Given the description of an element on the screen output the (x, y) to click on. 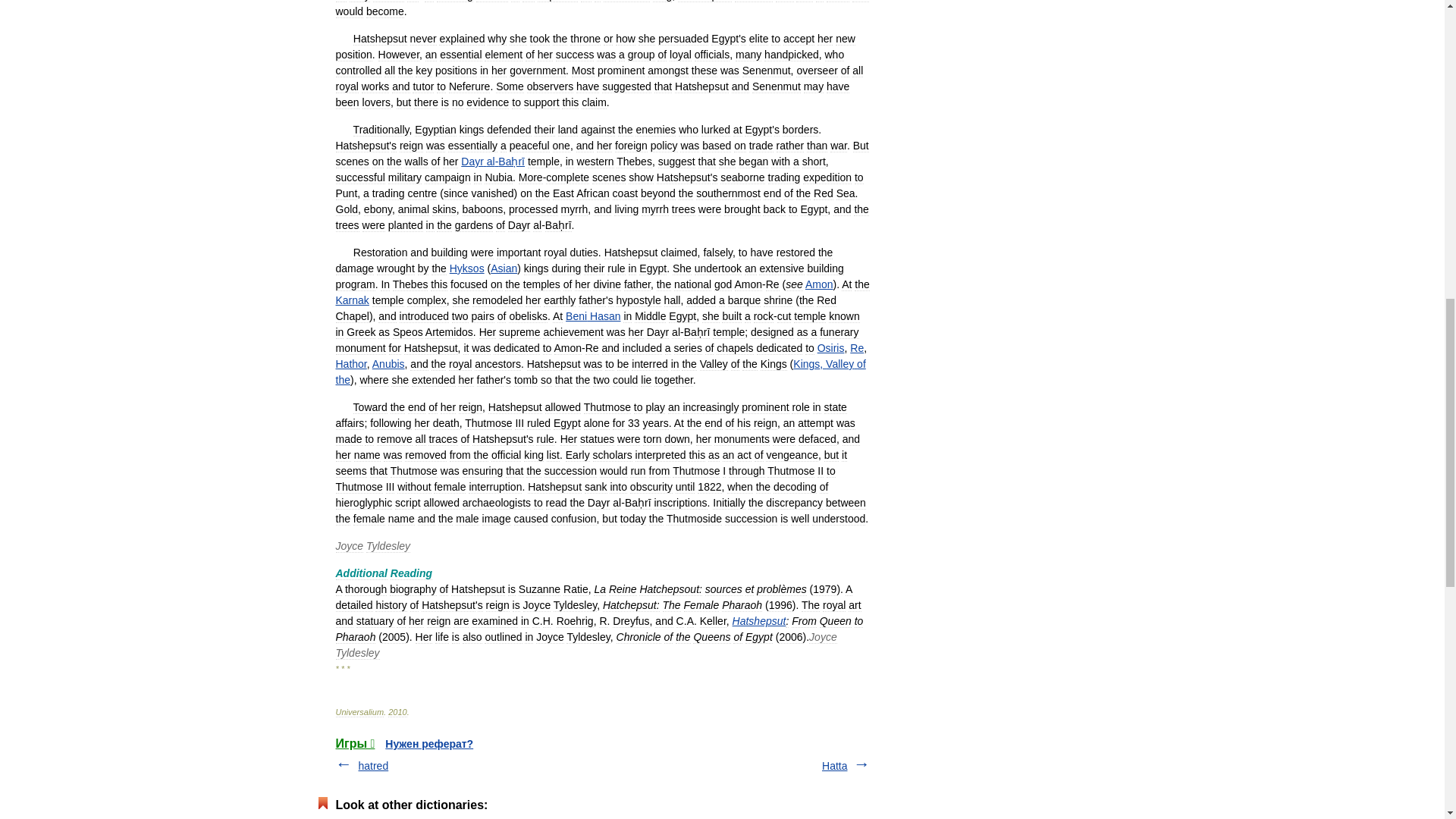
Hatshepsut (759, 621)
Hyksos (466, 268)
Anubis (388, 363)
Karnak (351, 300)
hatred (373, 766)
Asian (503, 268)
Beni Hasan (593, 316)
Osiris (830, 347)
Hathor (350, 363)
Amon (818, 284)
Kings, Valley of the (599, 371)
Hatta (834, 766)
Re (856, 347)
